Given the description of an element on the screen output the (x, y) to click on. 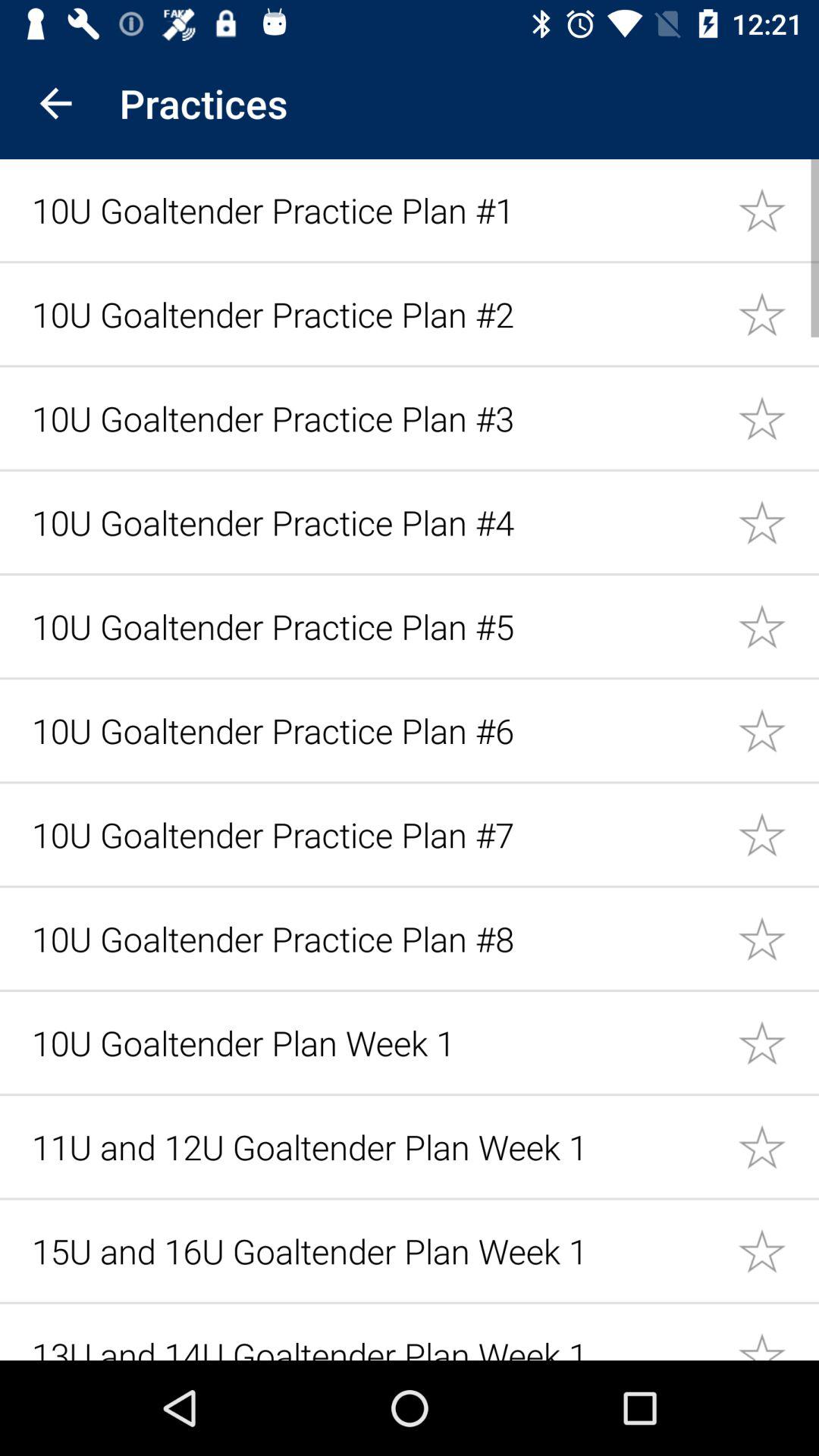
star a practice plan (778, 730)
